Given the description of an element on the screen output the (x, y) to click on. 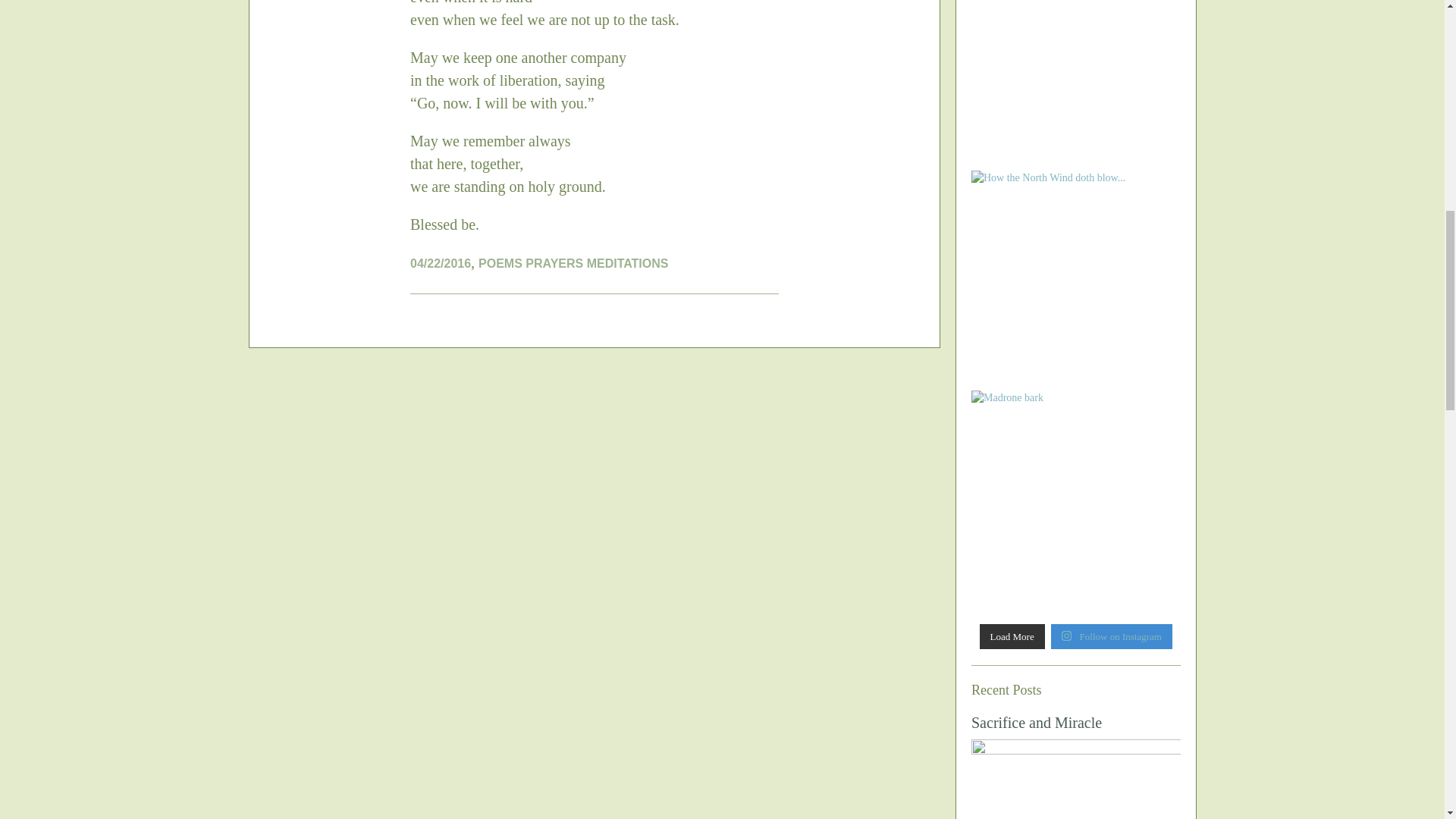
Follow on Instagram (1111, 636)
POEMS PRAYERS MEDITATIONS (573, 263)
12:33 pm (440, 263)
Load More (1012, 636)
Sacrifice and Miracle (1036, 722)
